Given the description of an element on the screen output the (x, y) to click on. 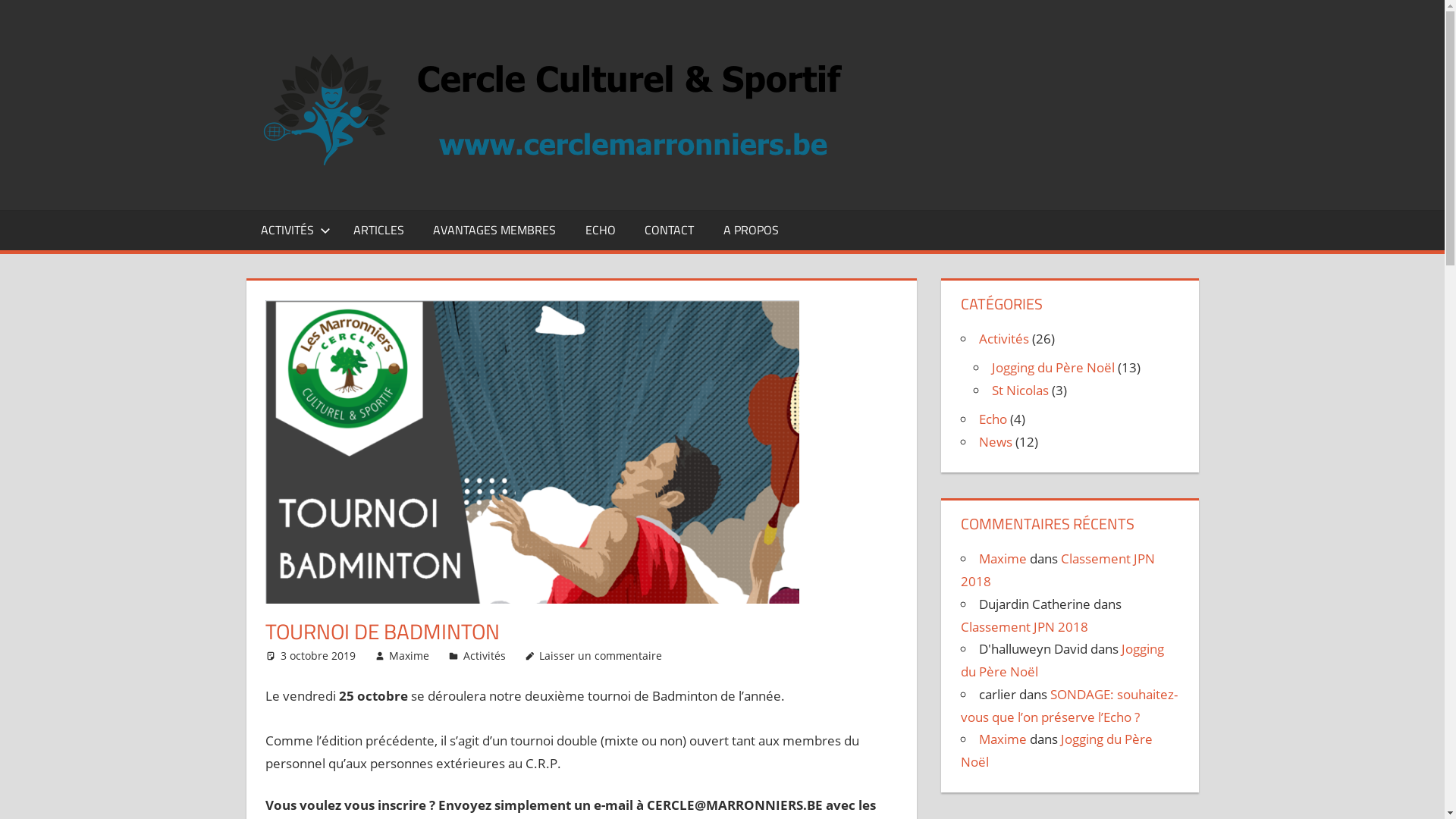
Maxime Element type: text (1002, 558)
ARTICLES Element type: text (378, 229)
Echo Element type: text (993, 418)
Classement JPN 2018 Element type: text (1057, 569)
AVANTAGES MEMBRES Element type: text (494, 229)
CONTACT Element type: text (669, 229)
Maxime Element type: text (1002, 738)
Maxime Element type: text (409, 655)
Laisser un commentaire Element type: text (600, 655)
Classement JPN 2018 Element type: text (1024, 626)
News Element type: text (995, 441)
A PROPOS Element type: text (750, 229)
ECHO Element type: text (600, 229)
3 octobre 2019 Element type: text (317, 655)
St Nicolas Element type: text (1019, 389)
